Given the description of an element on the screen output the (x, y) to click on. 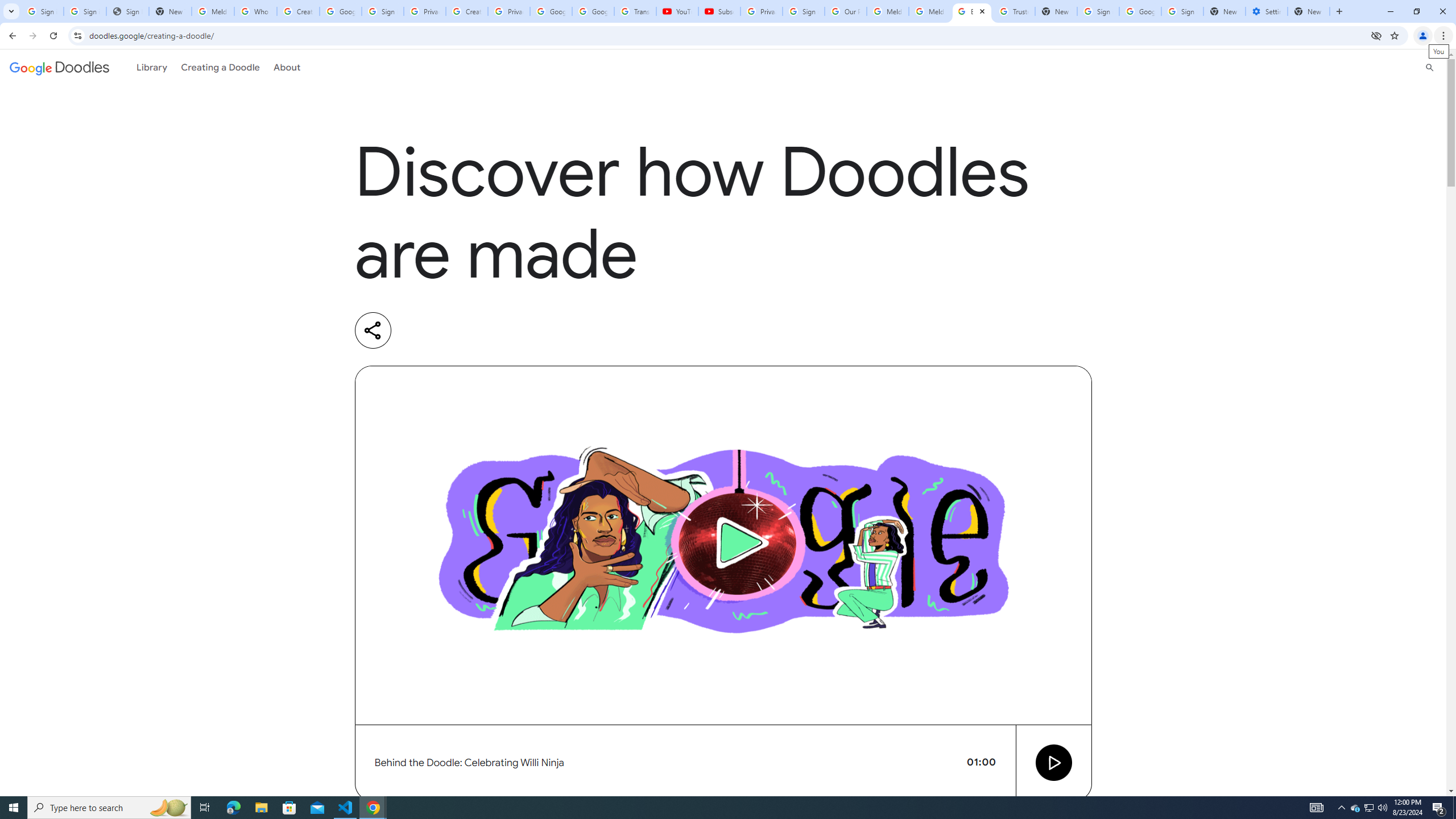
Trusted Information and Content - Google Safety Center (1013, 11)
Google Cybersecurity Innovations - Google Safety Center (1139, 11)
Who is my administrator? - Google Account Help (255, 11)
Sign in - Google Accounts (1182, 11)
Sign in - Google Accounts (382, 11)
About (286, 67)
